Given the description of an element on the screen output the (x, y) to click on. 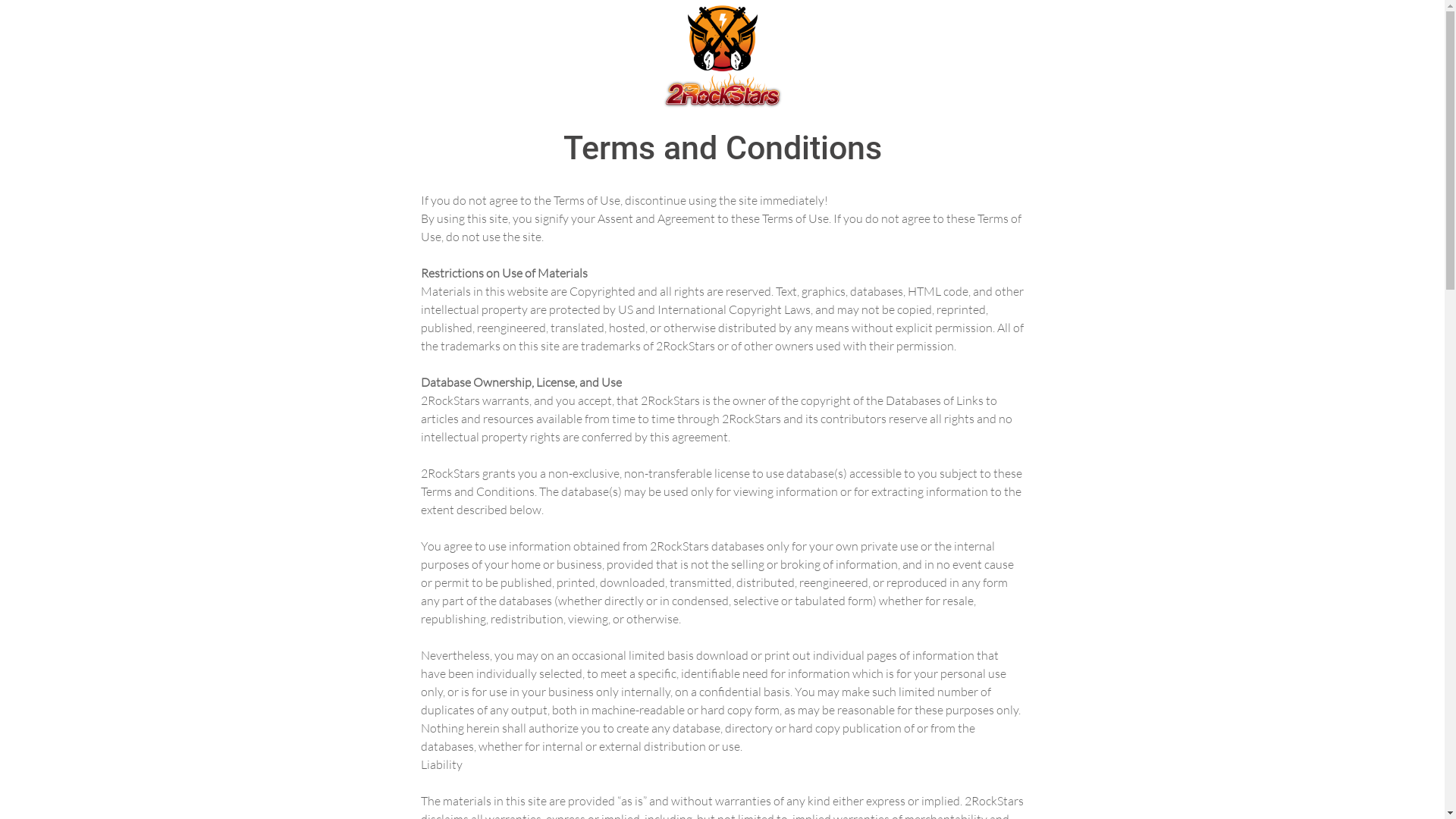
23780_02 Element type: hover (721, 55)
